Given the description of an element on the screen output the (x, y) to click on. 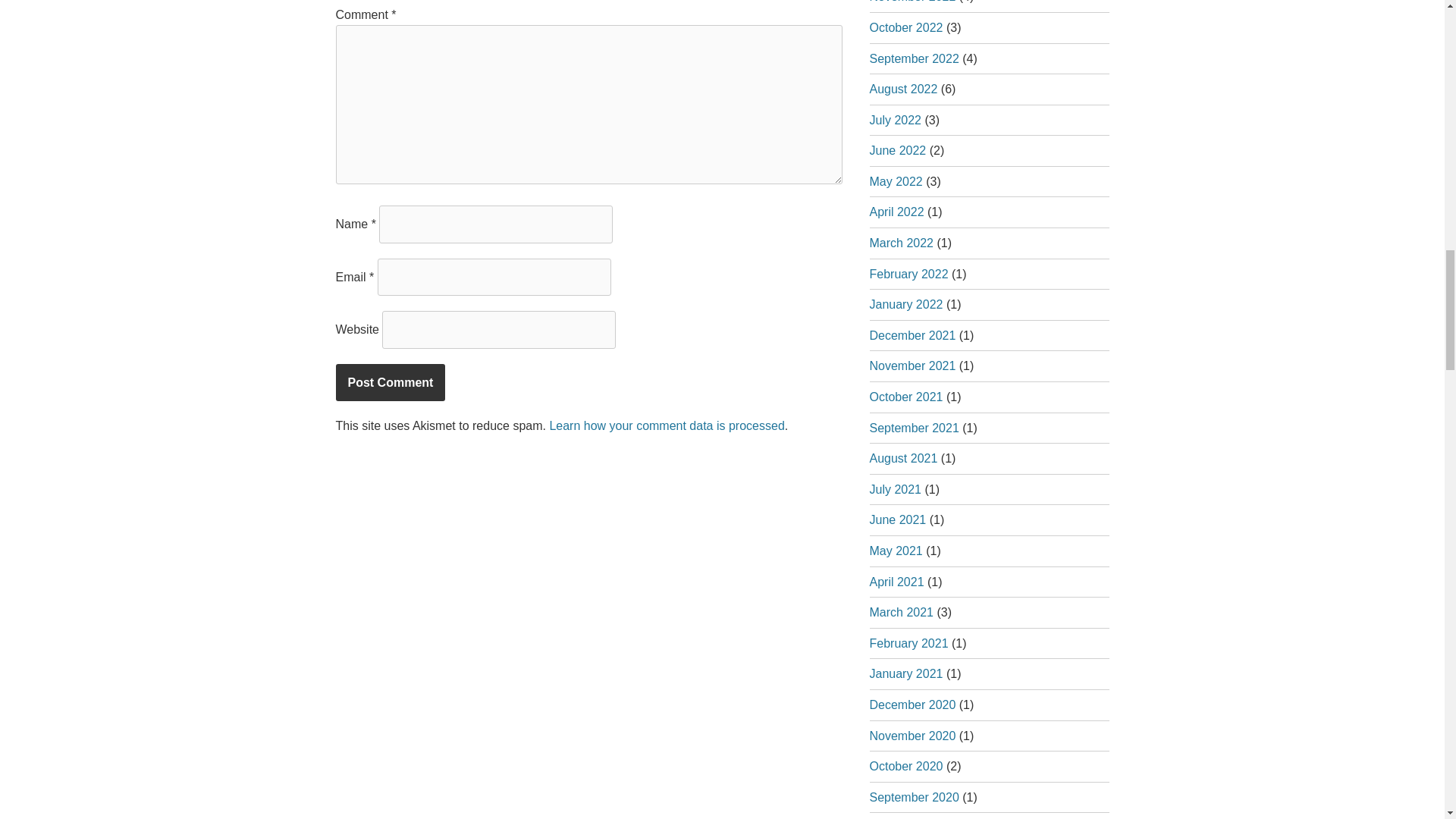
Post Comment (389, 382)
Post Comment (389, 382)
Learn how your comment data is processed (666, 425)
